Given the description of an element on the screen output the (x, y) to click on. 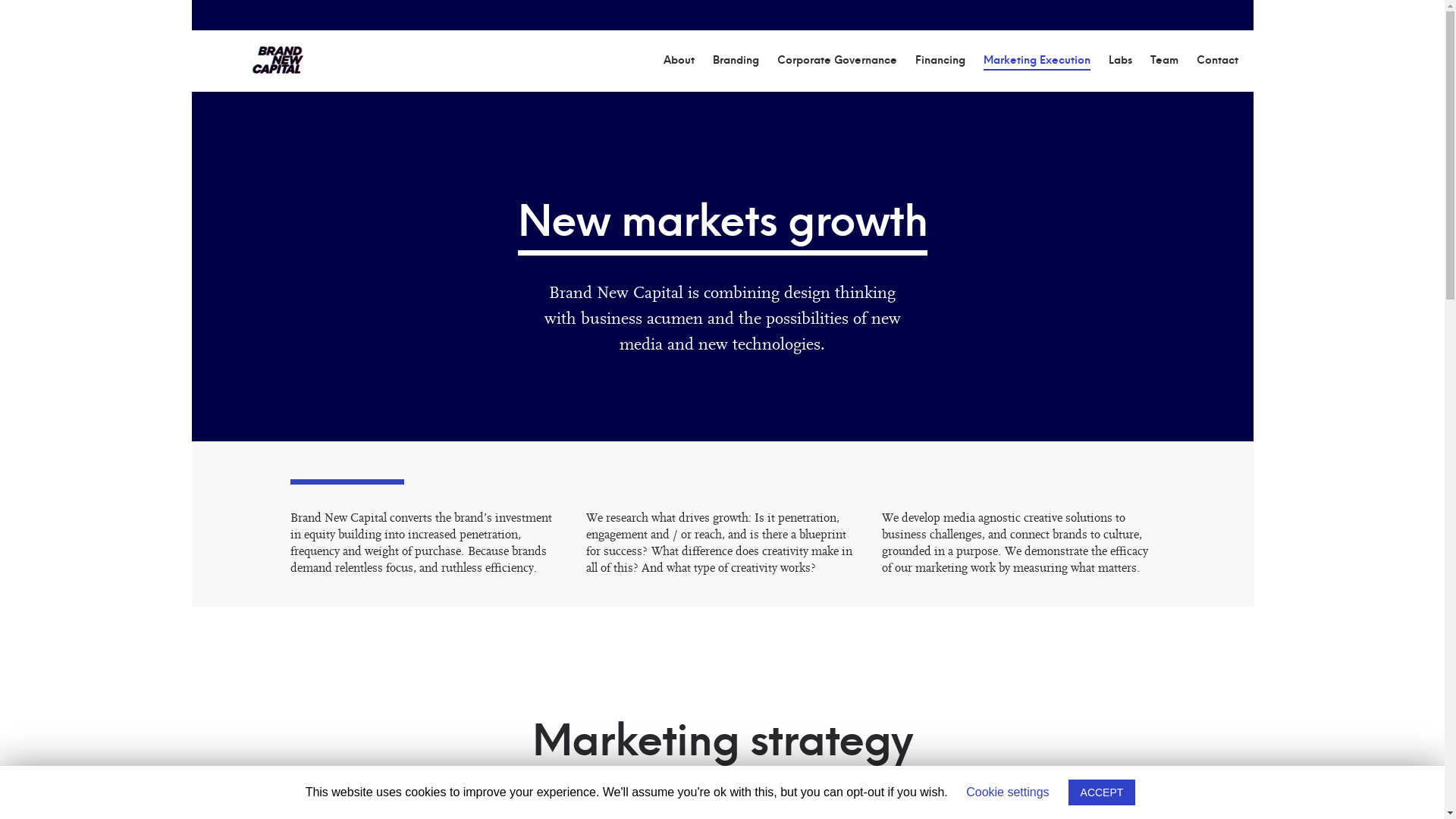
Cookie settings Element type: text (1007, 791)
Branding Element type: text (735, 60)
ACCEPT Element type: text (1101, 792)
Contact Element type: text (1217, 60)
Labs Element type: text (1120, 60)
Marketing Execution Element type: text (1035, 61)
Financing Element type: text (939, 60)
Corporate Governance Element type: text (836, 60)
Team Element type: text (1163, 60)
Brand New Capital Element type: hover (277, 58)
About Element type: text (677, 60)
